Given the description of an element on the screen output the (x, y) to click on. 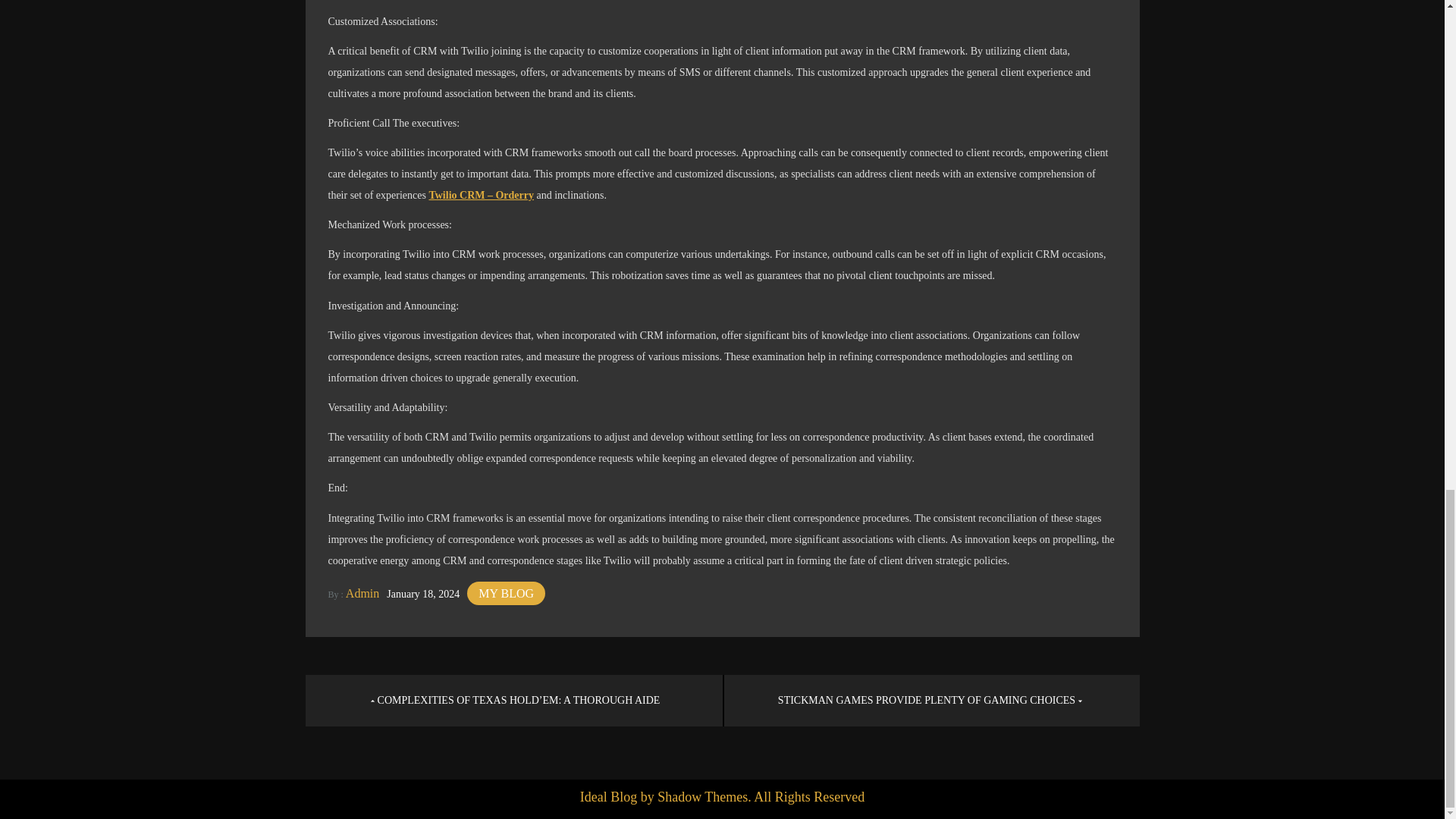
Admin (362, 593)
MY BLOG (505, 593)
January 18, 2024 (423, 593)
STICKMAN GAMES PROVIDE PLENTY OF GAMING CHOICES (930, 700)
Shadow Themes (703, 796)
